Given the description of an element on the screen output the (x, y) to click on. 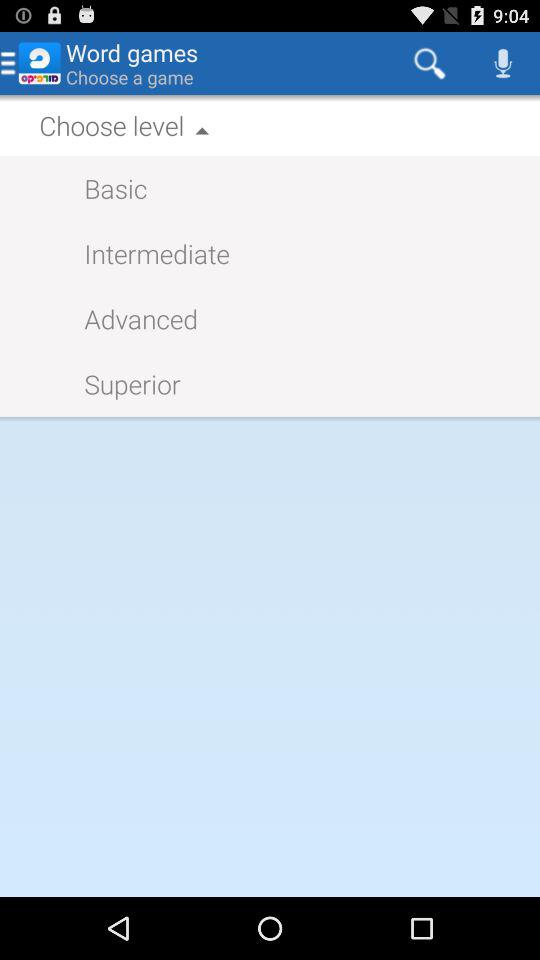
turn on item above the advanced item (146, 252)
